Given the description of an element on the screen output the (x, y) to click on. 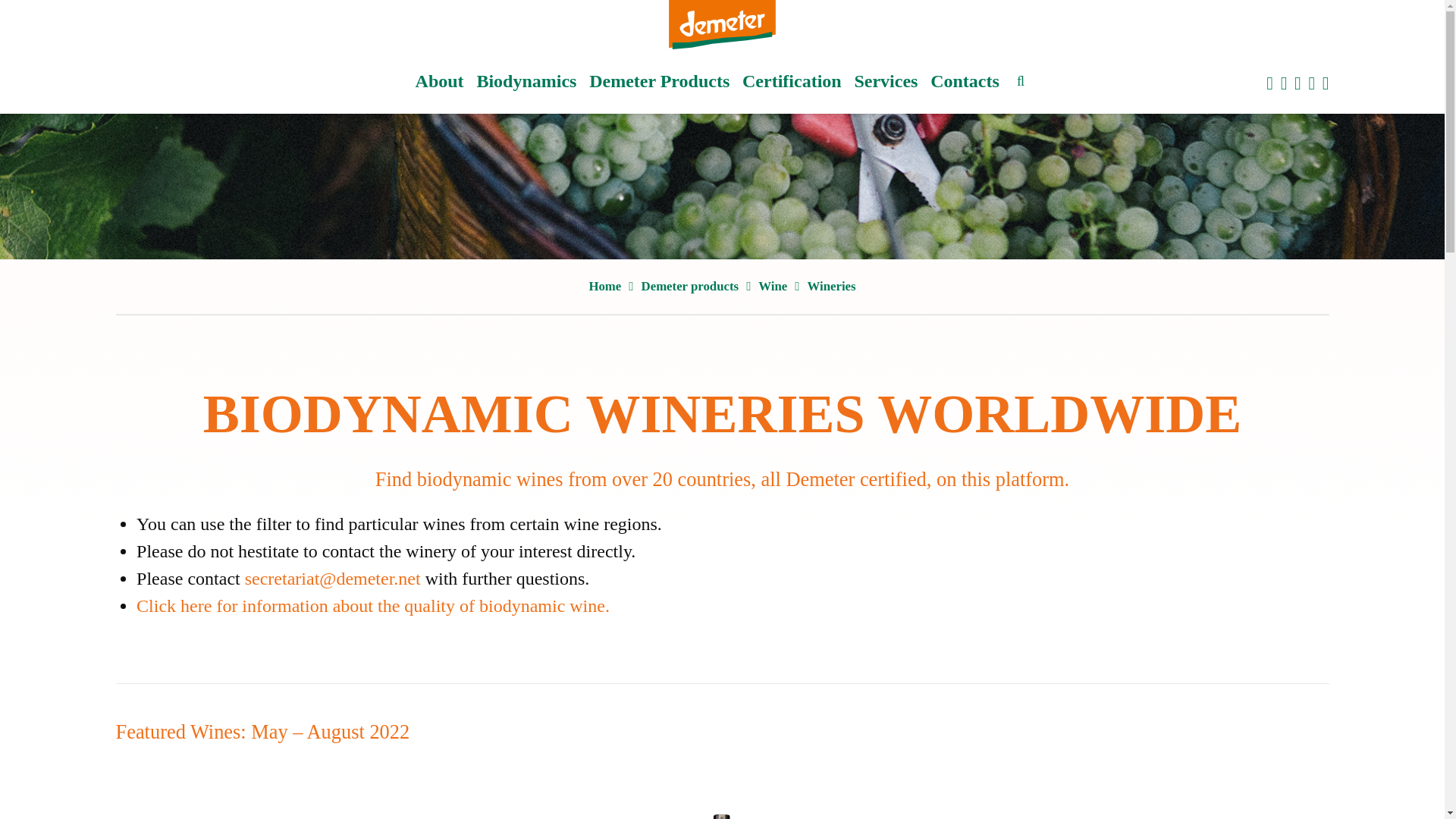
Services (885, 81)
About (439, 81)
Certification (791, 81)
Demeter Products (659, 81)
Biodynamics (526, 81)
